Given the description of an element on the screen output the (x, y) to click on. 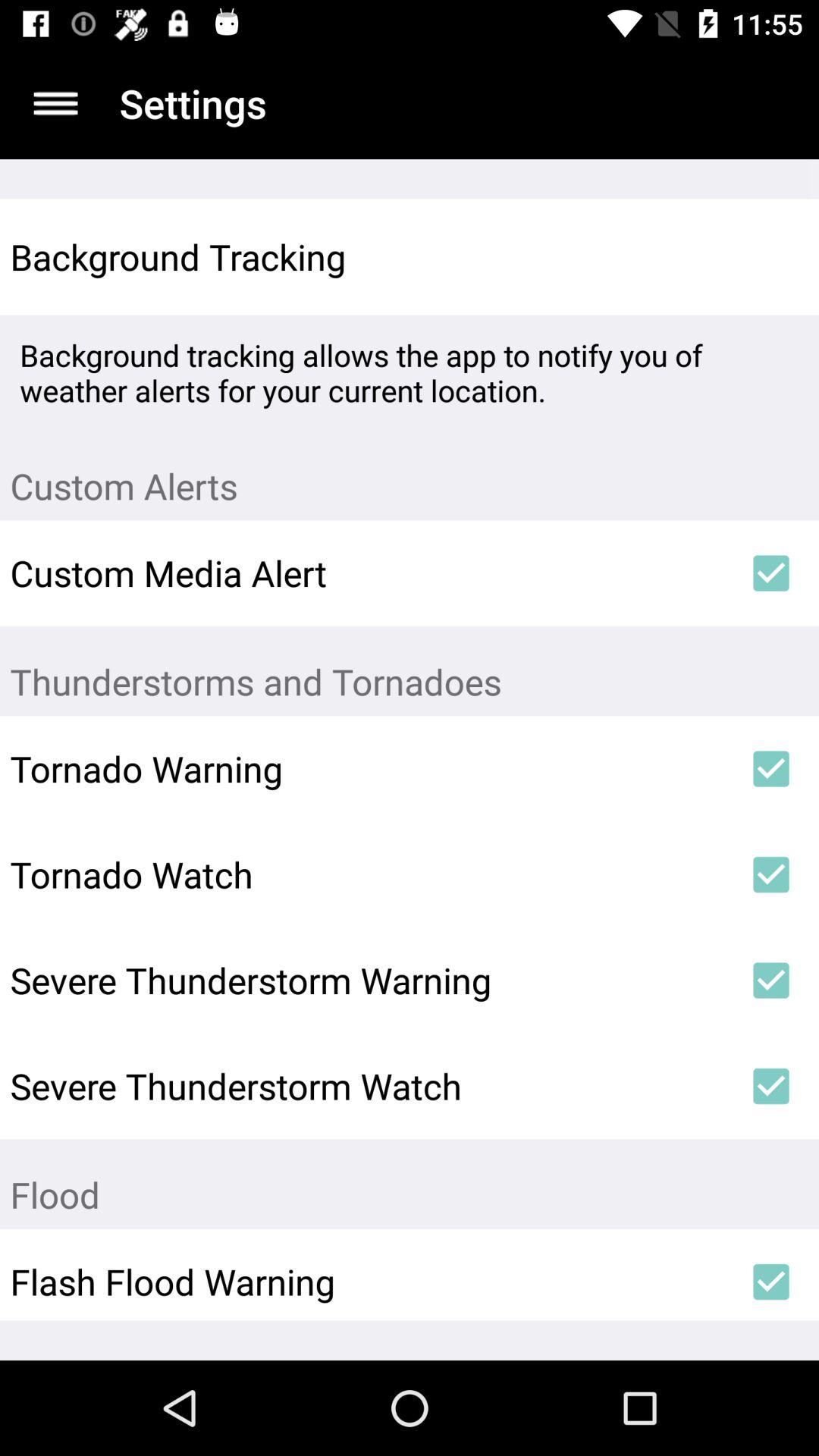
choose the item at the top right corner (771, 256)
